Given the description of an element on the screen output the (x, y) to click on. 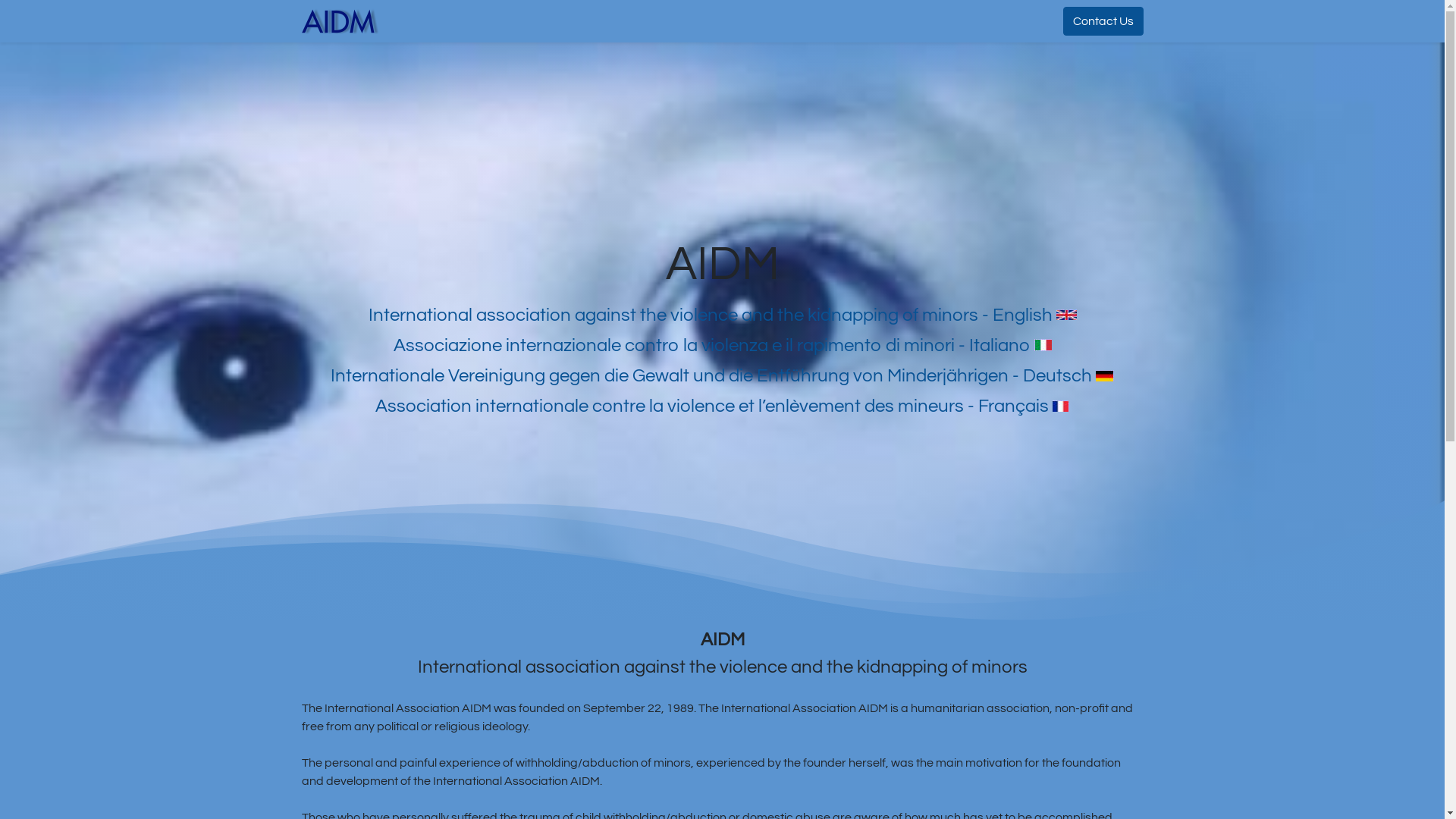
Contact Us Element type: text (1103, 20)
AIDM Element type: hover (340, 21)
